Given the description of an element on the screen output the (x, y) to click on. 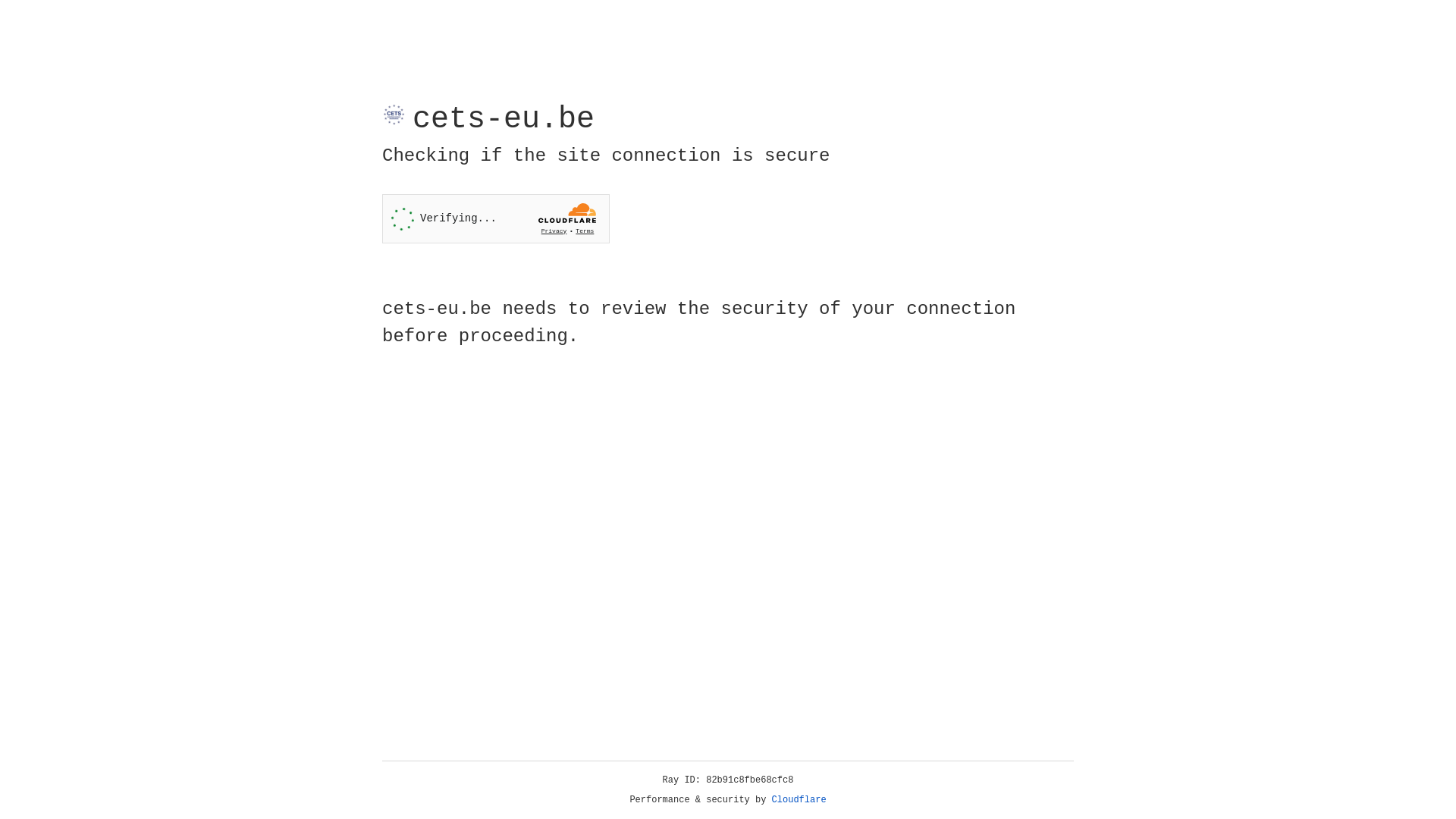
Widget containing a Cloudflare security challenge Element type: hover (495, 218)
Cloudflare Element type: text (798, 799)
